Given the description of an element on the screen output the (x, y) to click on. 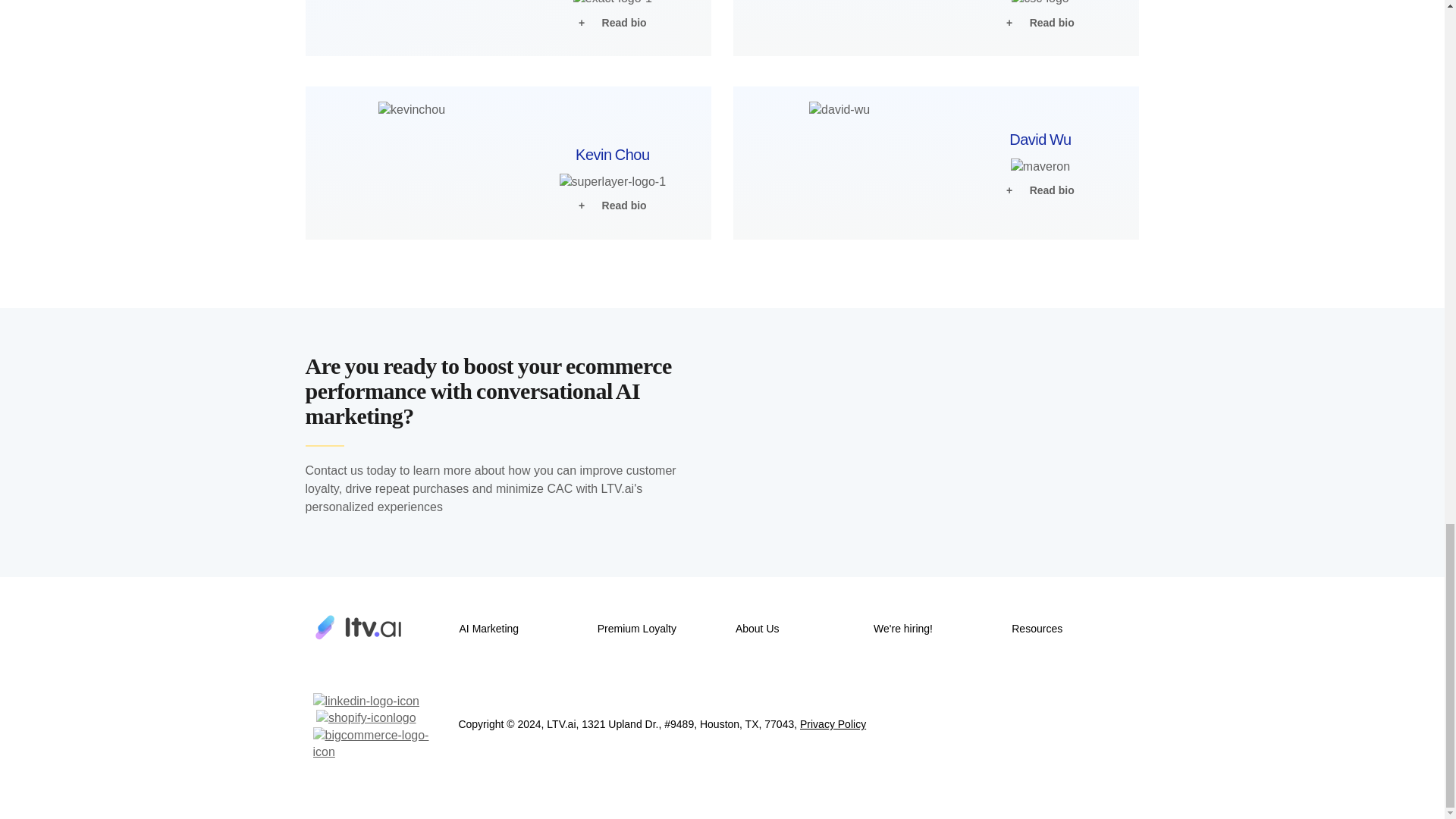
We're hiring! (903, 628)
exact-logo-1 (612, 3)
Premium Loyalty (636, 628)
About Us (756, 628)
